Given the description of an element on the screen output the (x, y) to click on. 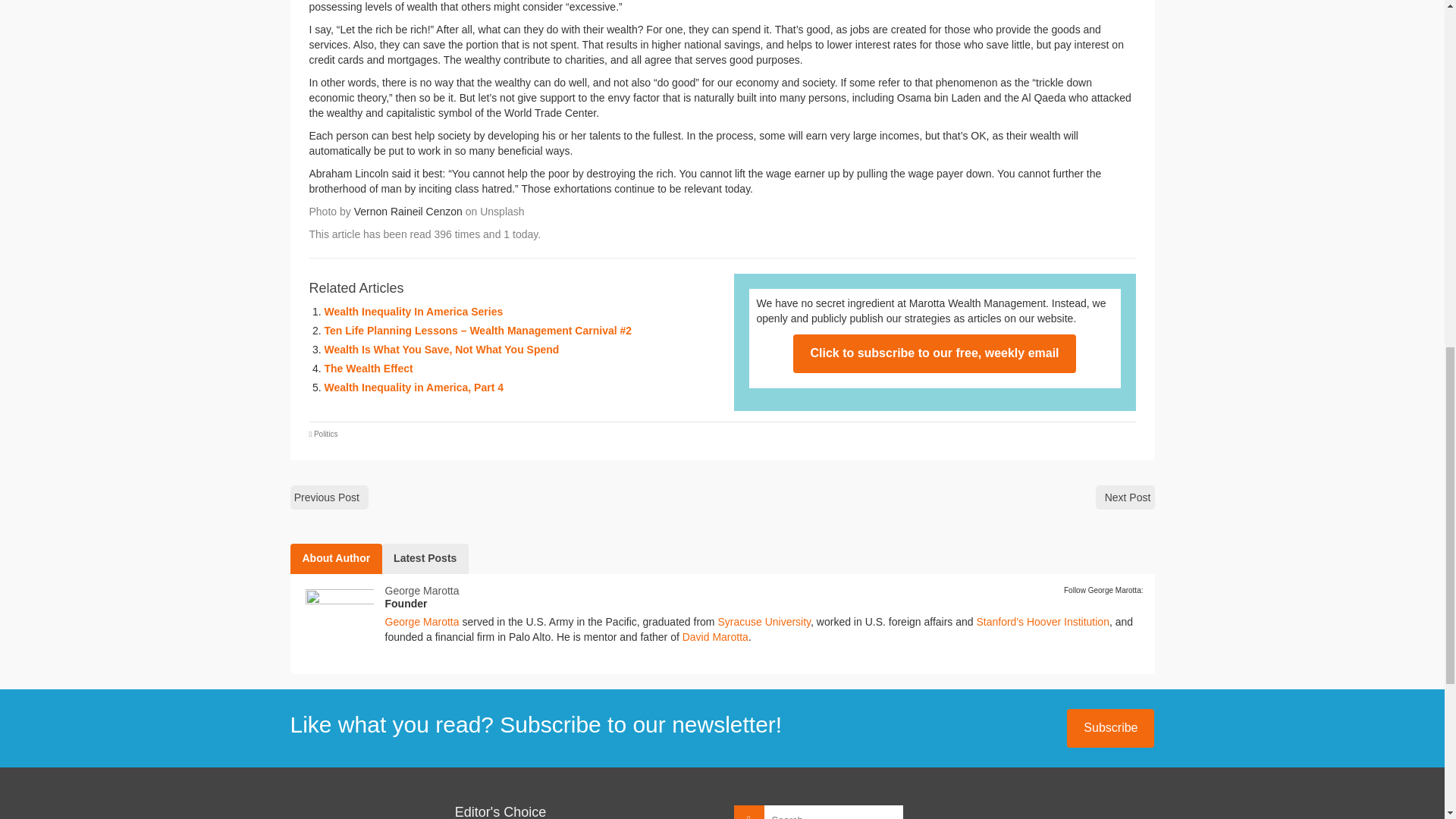
Wealth Inequality In America Series (413, 311)
Wealth Is What You Save, Not What You Spend (441, 349)
Wealth Inequality in America, Part 4 (413, 387)
The Wealth Effect (368, 368)
